Given the description of an element on the screen output the (x, y) to click on. 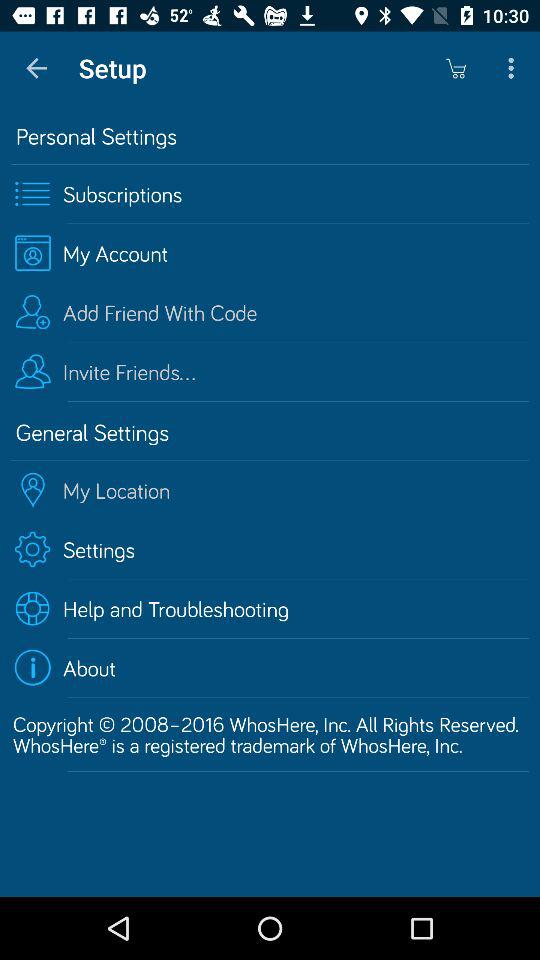
click item next to setup app (36, 68)
